Given the description of an element on the screen output the (x, y) to click on. 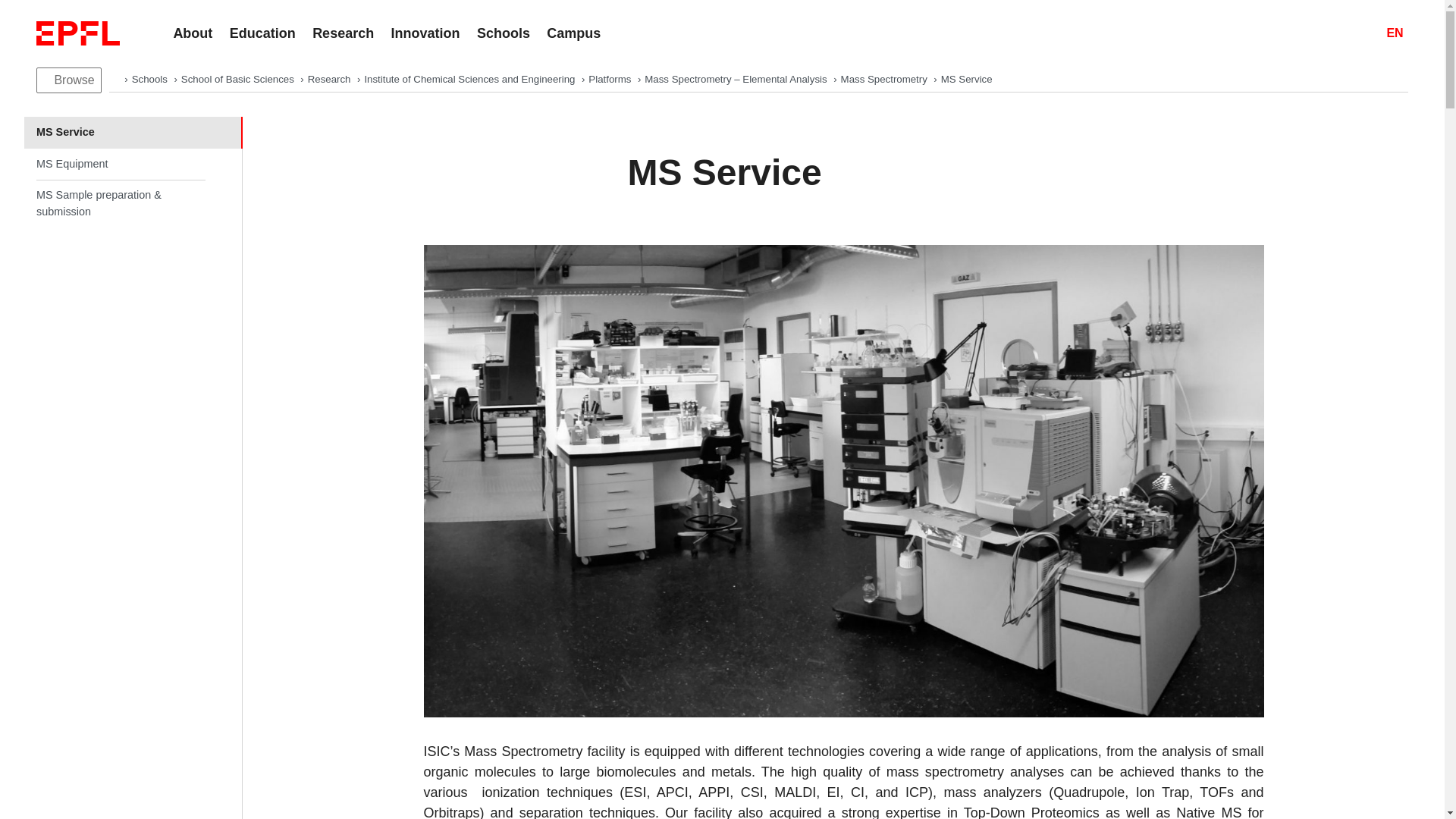
Schools (503, 33)
Institute of Chemical Sciences and Engineering (471, 79)
Research (330, 79)
Mass Spectrometry (885, 79)
Platforms (610, 79)
Campus (573, 33)
Research (342, 33)
home (114, 79)
Mass Spectrometry (885, 79)
School of Basic Sciences (238, 79)
